Given the description of an element on the screen output the (x, y) to click on. 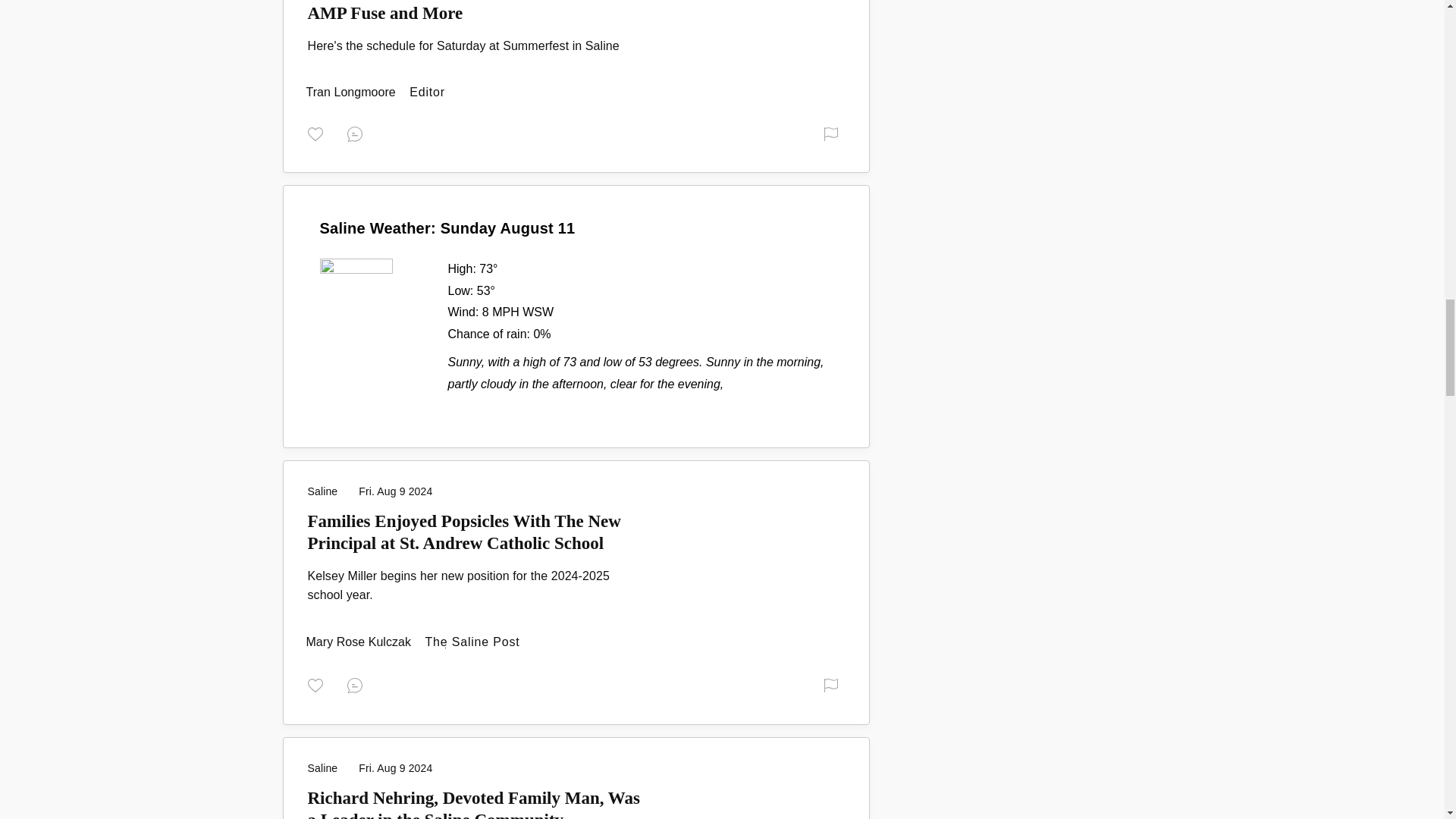
Reply (357, 132)
Editor (351, 91)
Thank (318, 132)
